Given the description of an element on the screen output the (x, y) to click on. 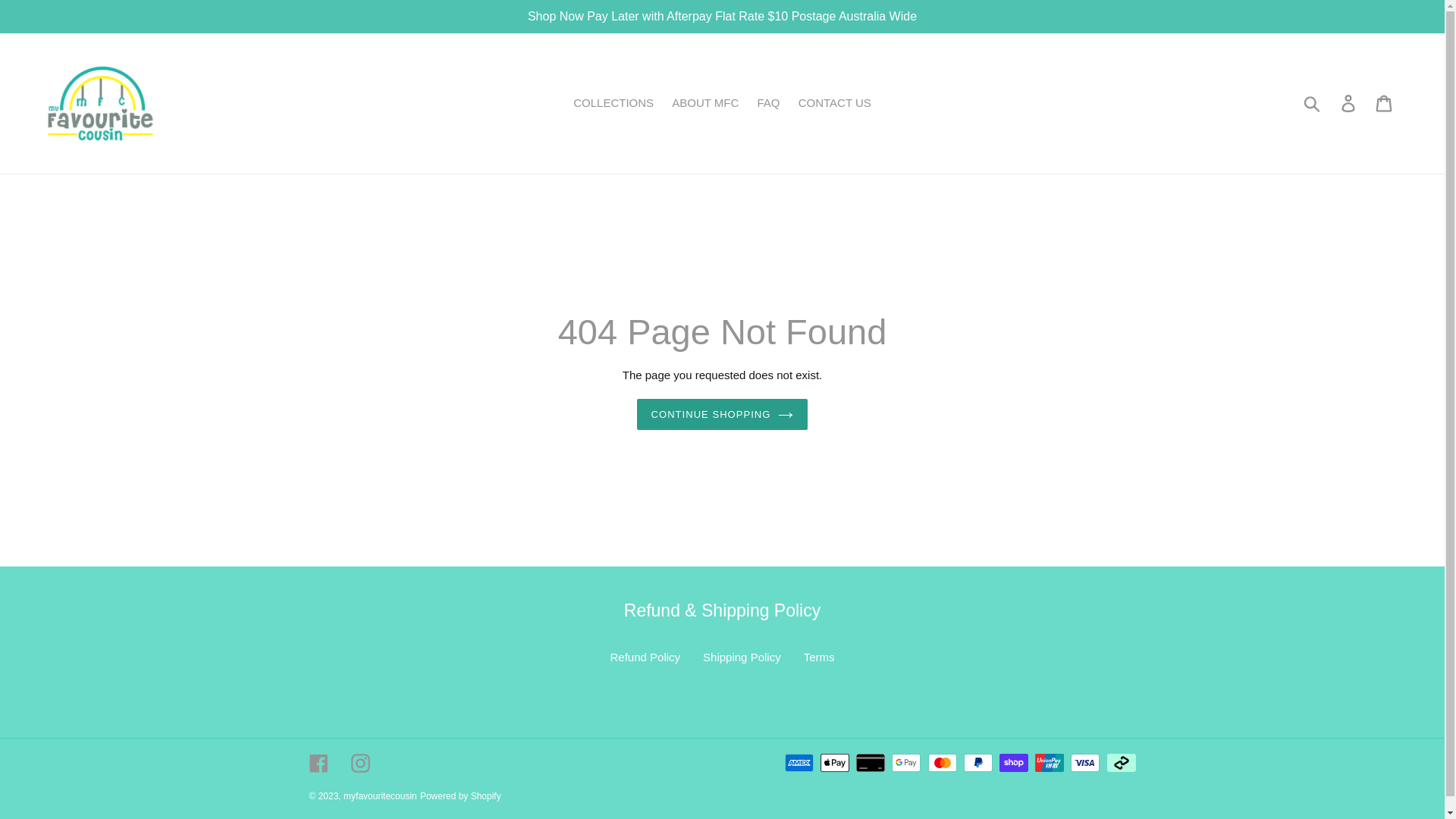
COLLECTIONS Element type: text (613, 103)
Powered by Shopify Element type: text (460, 795)
Refund Policy Element type: text (645, 656)
myfavouritecousin Element type: text (380, 795)
Terms Element type: text (818, 656)
Instagram Element type: text (359, 762)
CONTINUE SHOPPING Element type: text (722, 414)
CONTACT US Element type: text (834, 103)
FAQ Element type: text (768, 103)
ABOUT MFC Element type: text (705, 103)
Facebook Element type: text (318, 762)
Cart Element type: text (1384, 103)
Submit Element type: text (1312, 102)
Shipping Policy Element type: text (741, 656)
Log in Element type: text (1349, 103)
